Given the description of an element on the screen output the (x, y) to click on. 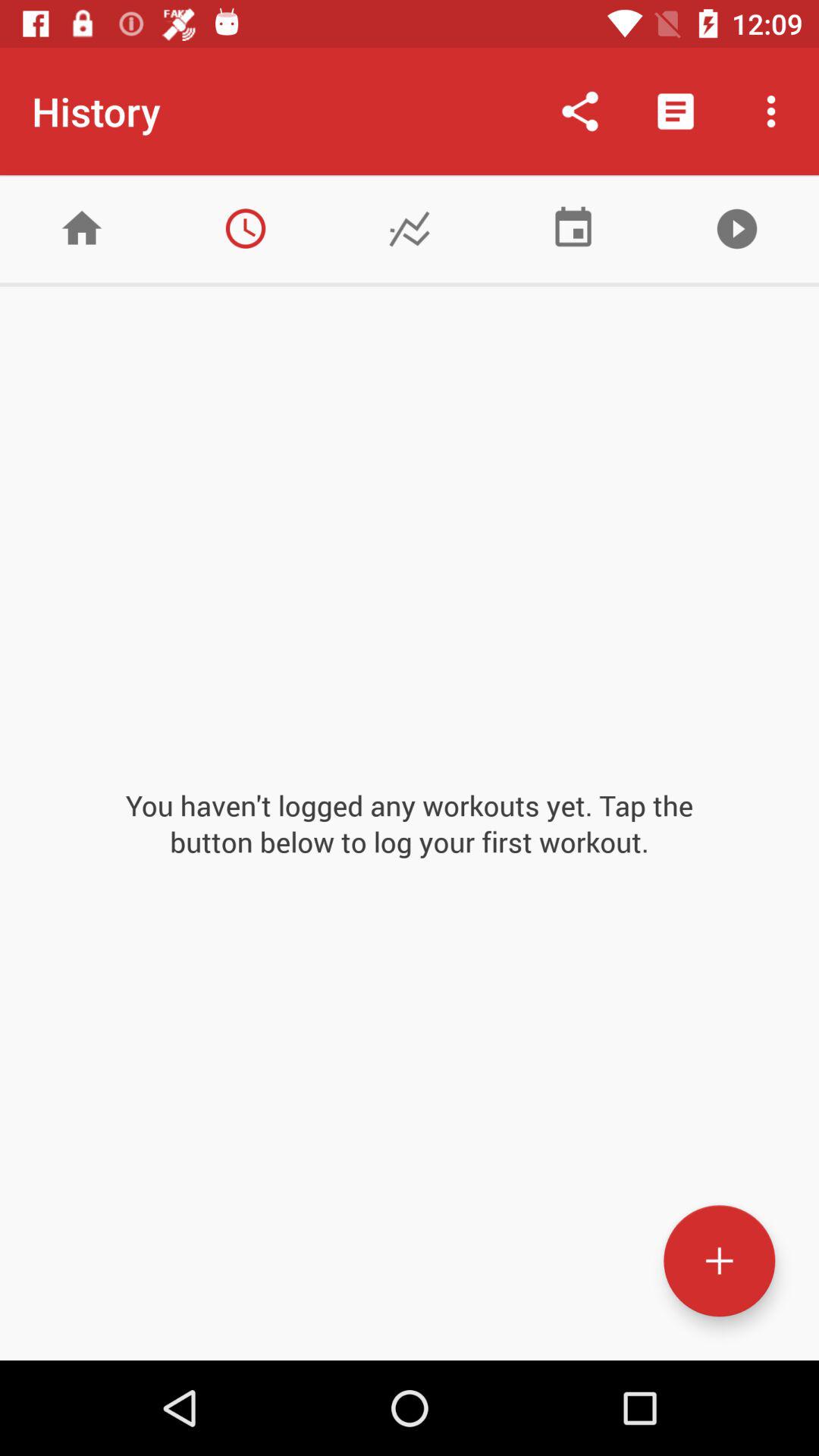
play content (737, 228)
